Given the description of an element on the screen output the (x, y) to click on. 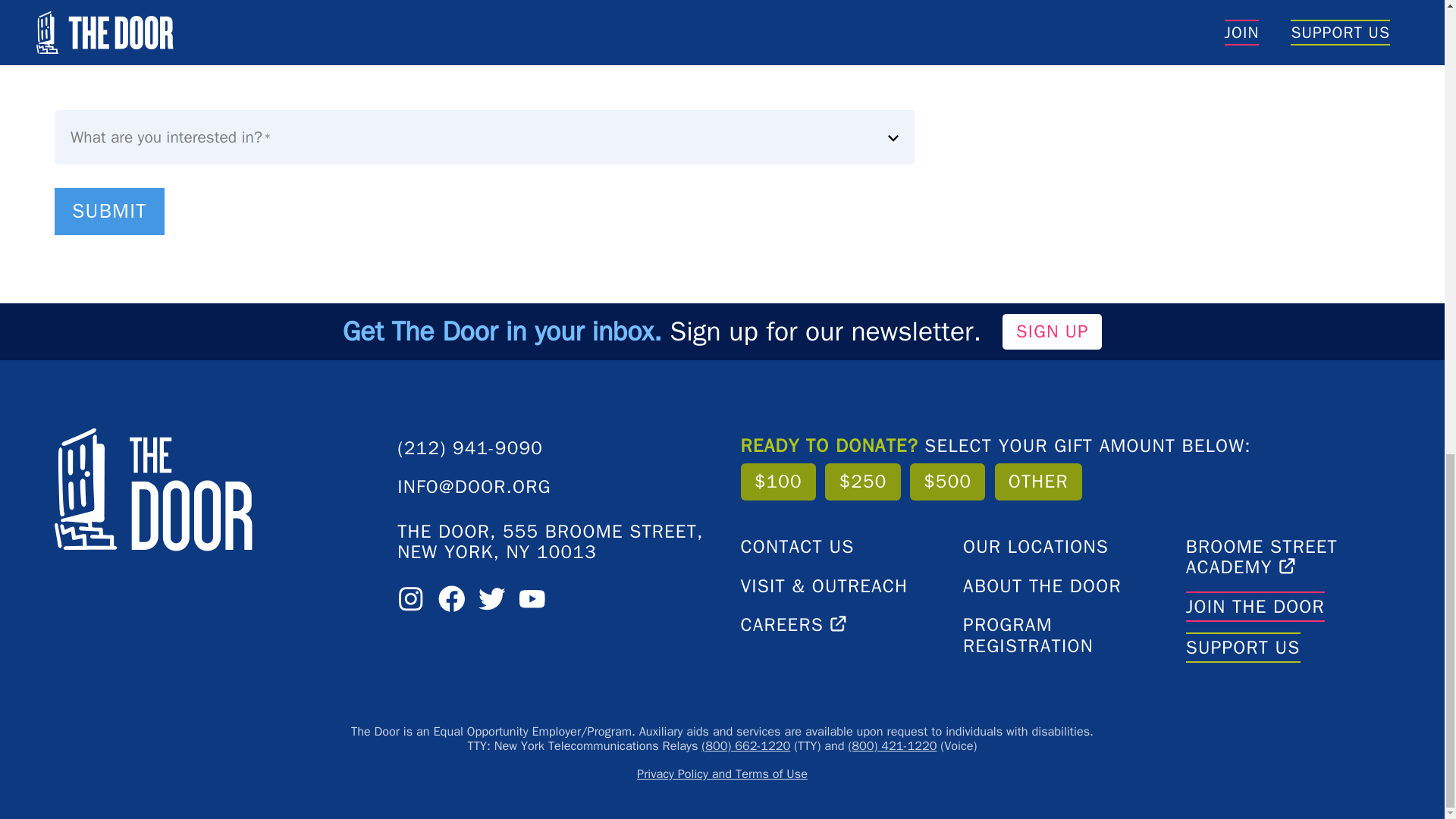
OUR LOCATIONS (1035, 546)
Privacy Policy and Terms of Use (722, 774)
CAREERS (795, 625)
OTHER (1037, 481)
PROGRAM REGISTRATION (1064, 635)
CONTACT US (796, 546)
SIGN UP (1052, 331)
SUPPORT US (1243, 647)
ABOUT THE DOOR (1041, 586)
Locations (38, 24)
